Given the description of an element on the screen output the (x, y) to click on. 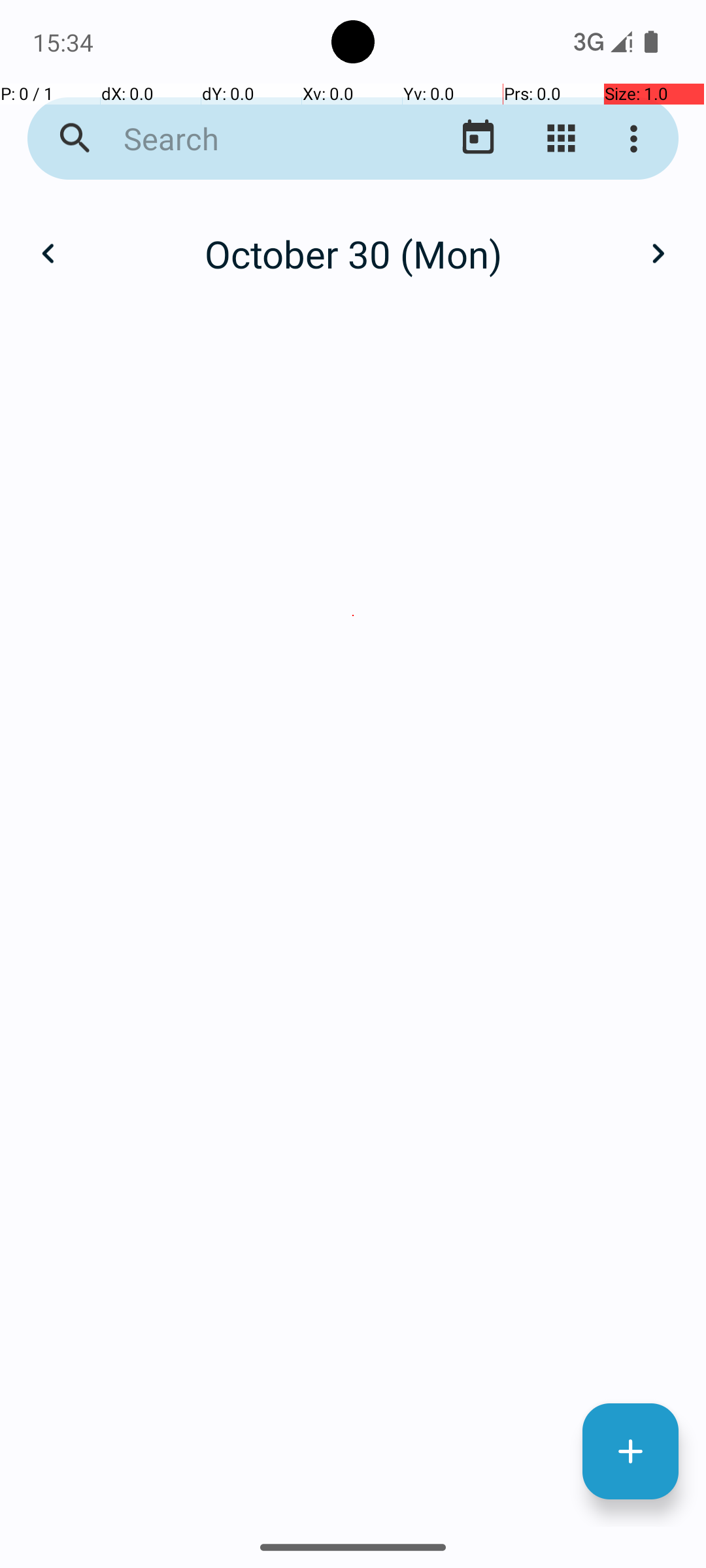
October 30 (Mon) Element type: android.widget.TextView (352, 253)
